Given the description of an element on the screen output the (x, y) to click on. 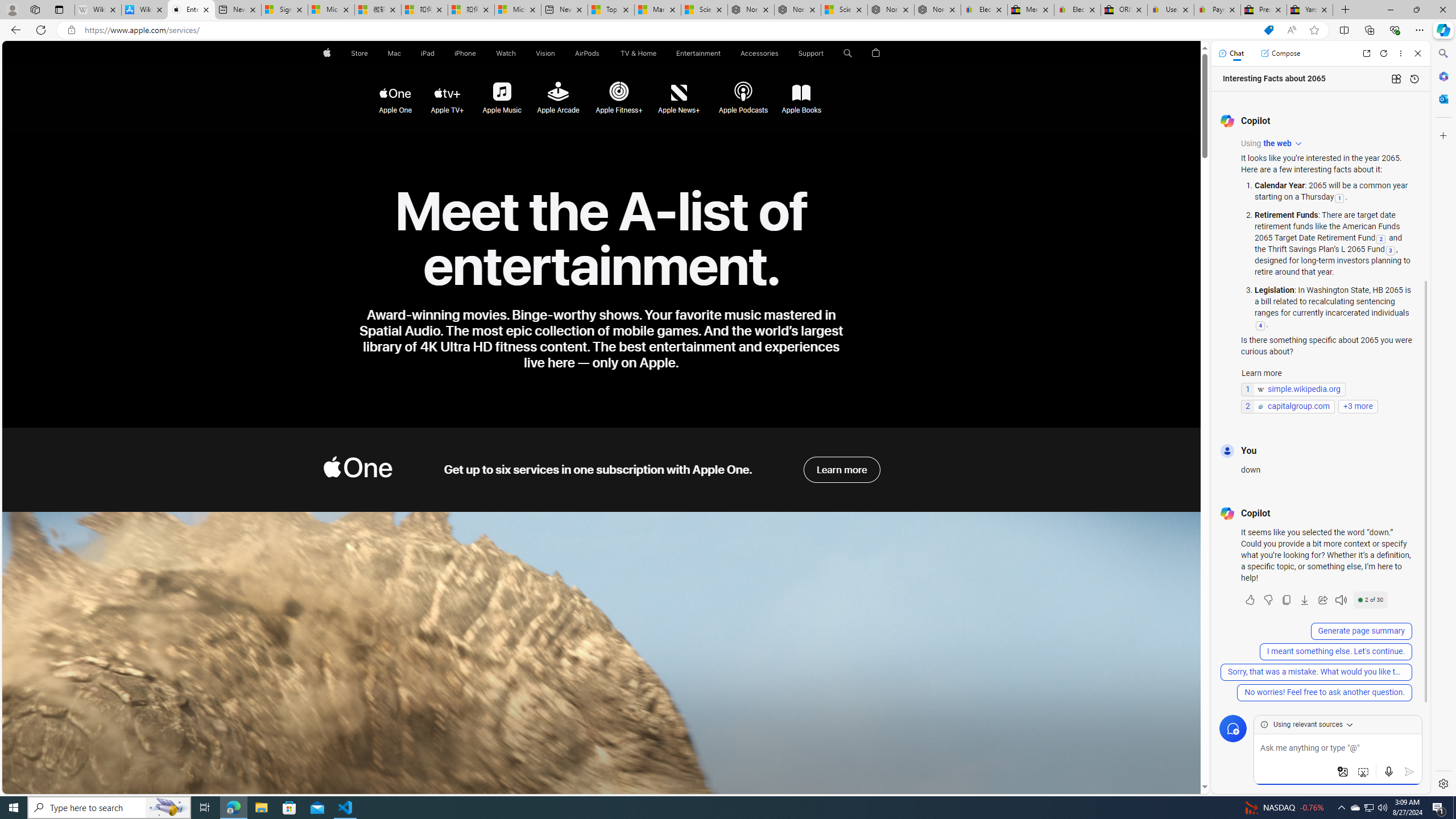
Vision menu (557, 53)
Mac (394, 53)
iPhone (464, 53)
Support (810, 53)
Class: globalnav-submenu-trigger-item (825, 53)
Apple Arcade (557, 92)
Mac (394, 53)
